Given the description of an element on the screen output the (x, y) to click on. 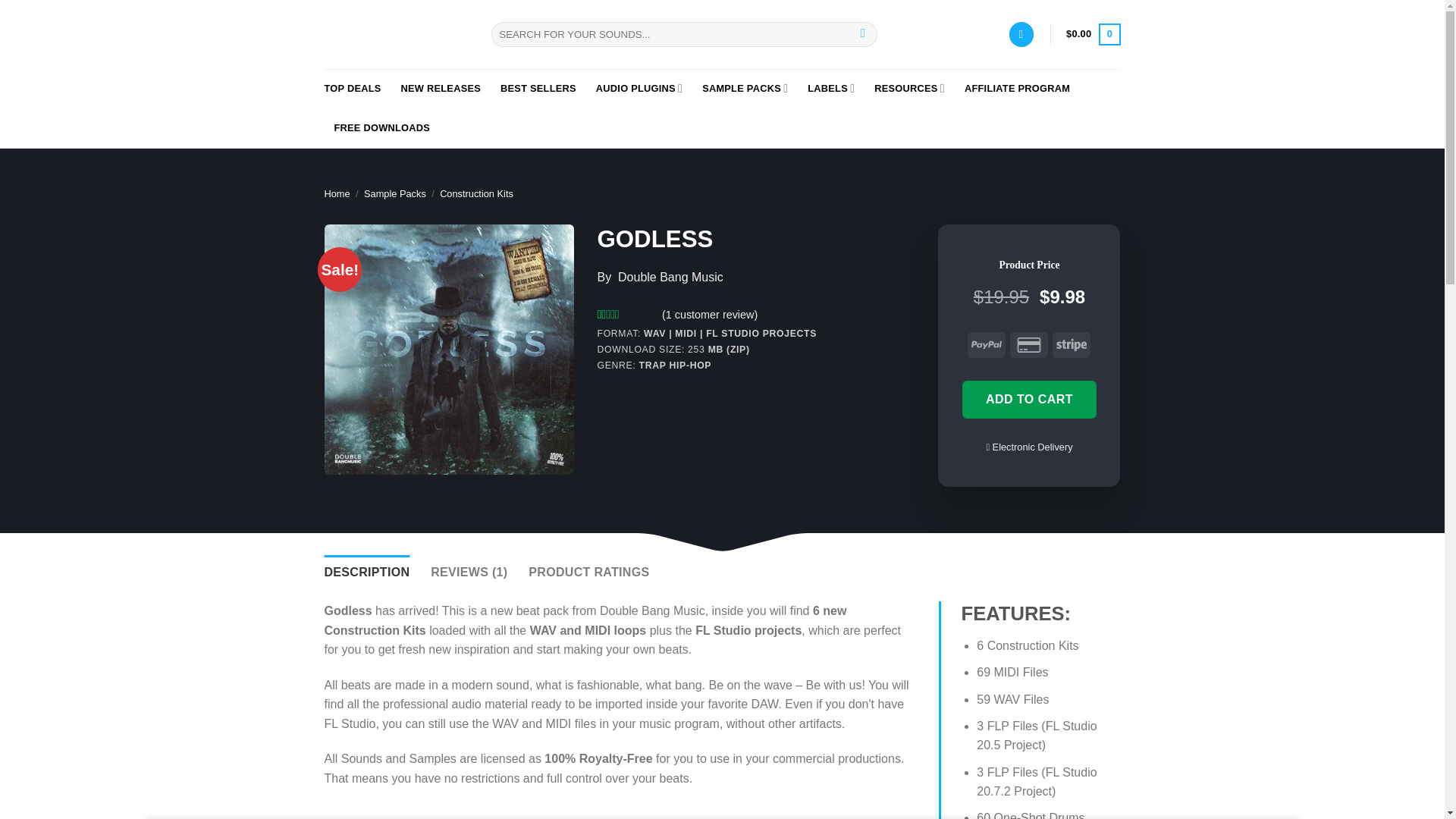
Cart (1092, 34)
AUDIO PLUGINS (638, 88)
SAMPLE PACKS (744, 88)
LABELS (831, 88)
NEW RELEASES (440, 88)
Search (863, 34)
BEST SELLERS (538, 88)
TOP DEALS (352, 88)
